Given the description of an element on the screen output the (x, y) to click on. 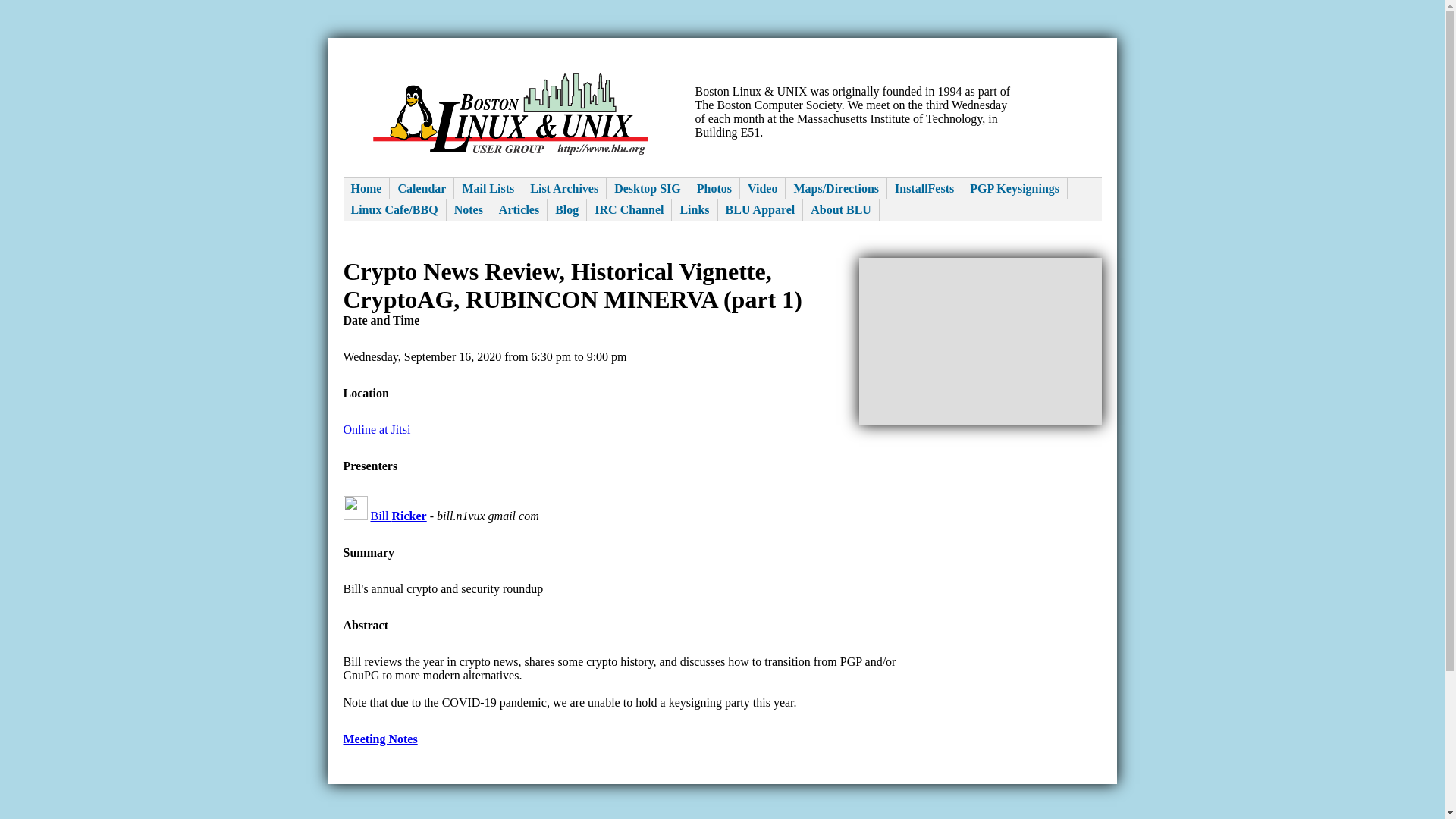
Links (694, 209)
Video (762, 188)
Notes (469, 209)
Photos (713, 188)
PGP Keysignings (1014, 188)
Online at Jitsi (376, 429)
Home (366, 188)
Calendar (422, 188)
InstallFests (924, 188)
YouTube video player (979, 340)
